Given the description of an element on the screen output the (x, y) to click on. 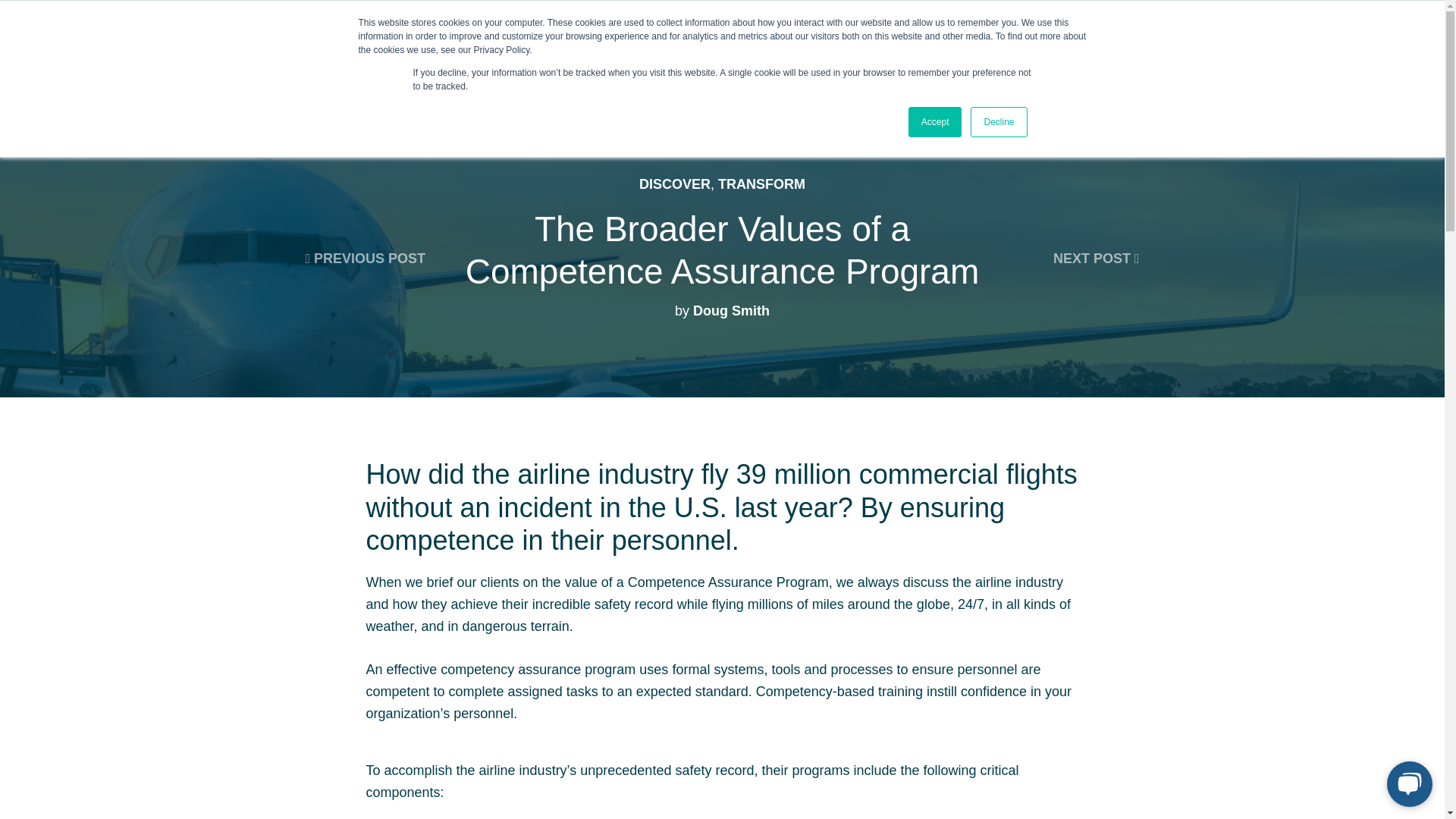
Vetergy (96, 48)
Services (361, 49)
Accept (935, 122)
PREVIOUS POST (364, 258)
Resources (791, 49)
Decline (998, 122)
Lasting Change (462, 49)
NEXT POST (1096, 258)
Doug Smith (731, 310)
DISCOVER (674, 183)
Home (286, 49)
Contact Us (1363, 47)
TRANSFORM (761, 183)
About (712, 49)
Contact Us (1363, 47)
